Given the description of an element on the screen output the (x, y) to click on. 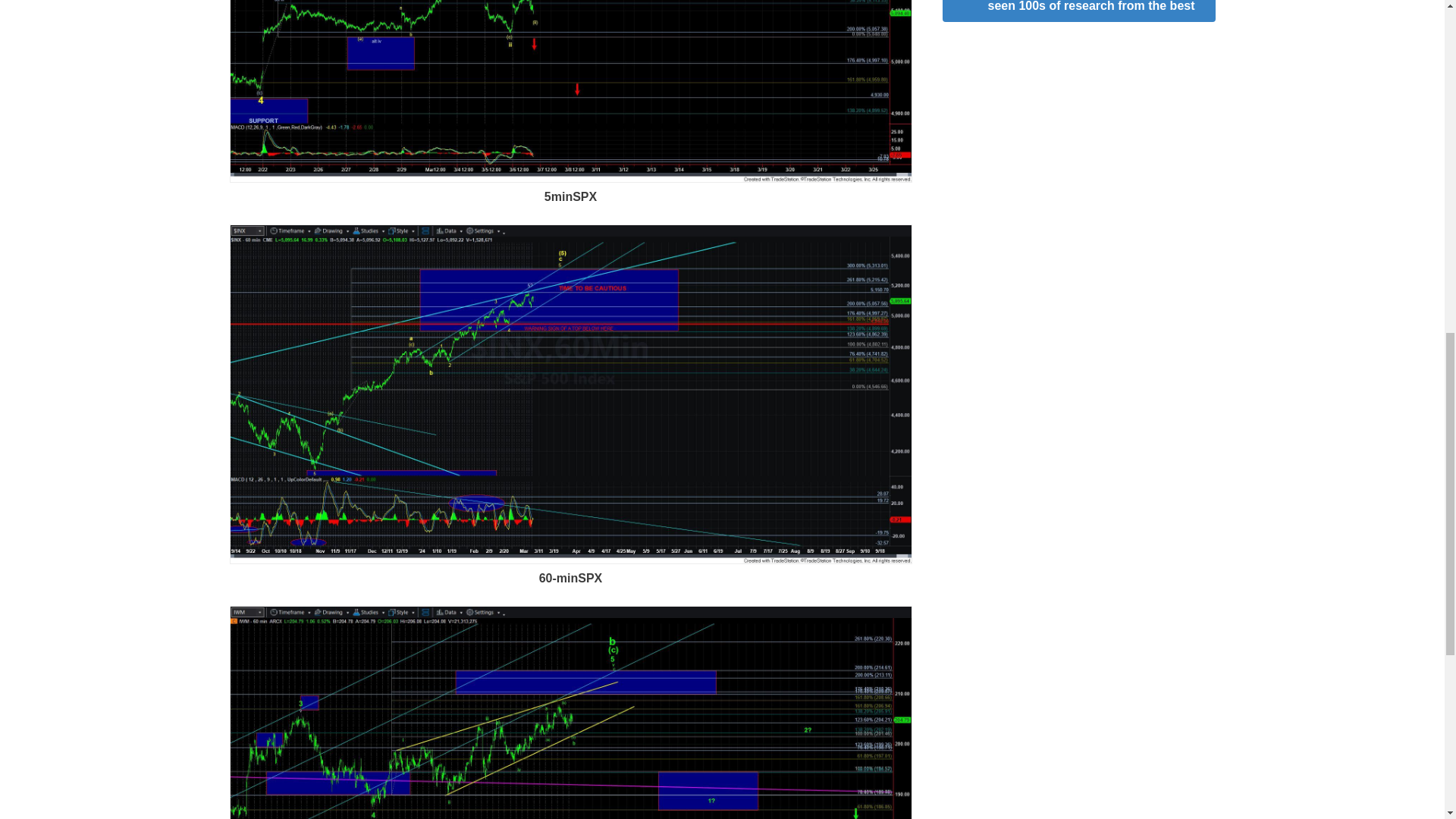
Click to Enlarge (569, 559)
Click to Enlarge (569, 178)
